Given the description of an element on the screen output the (x, y) to click on. 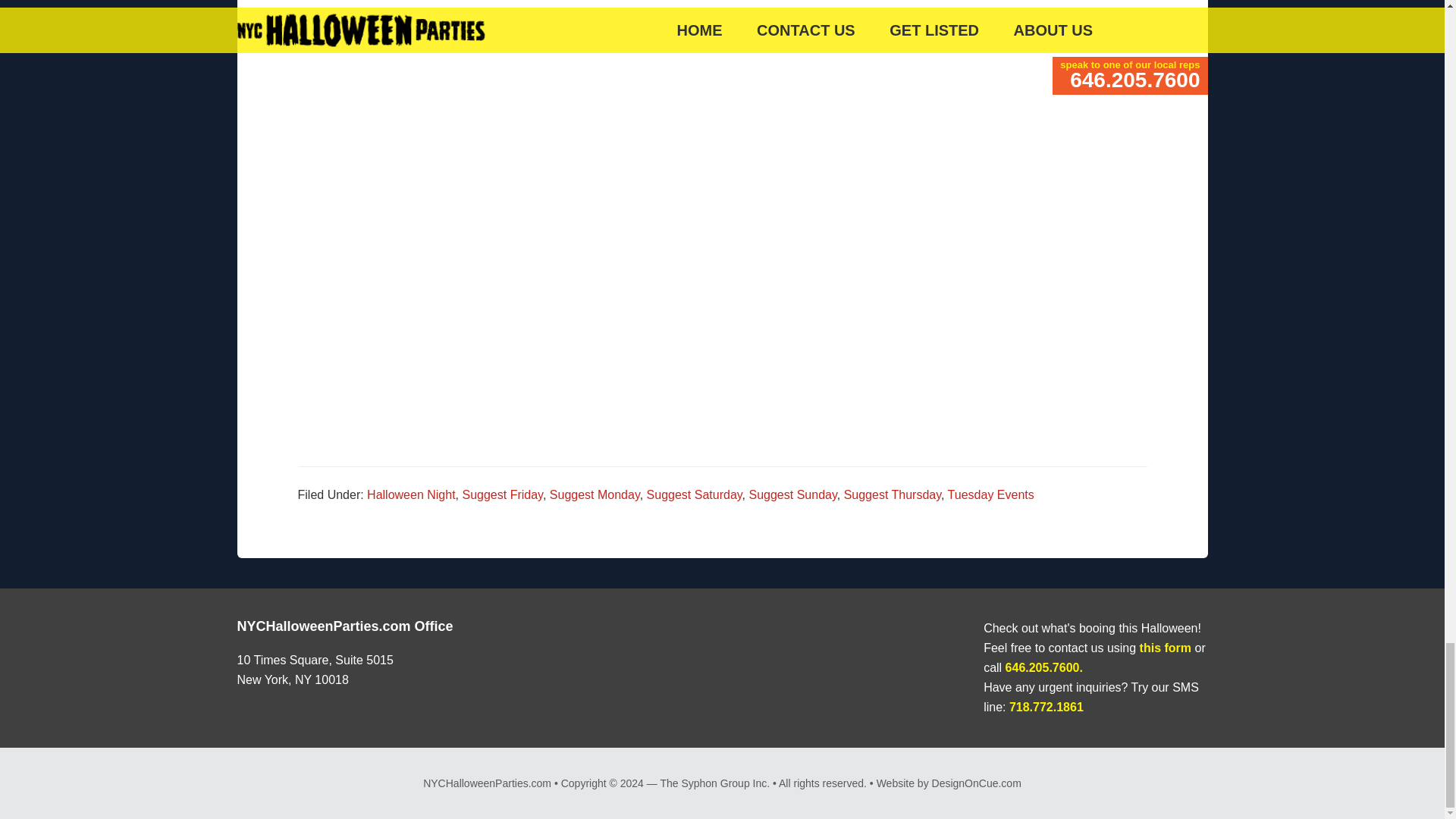
Suggest Friday (503, 494)
bounce-nyc (935, 119)
Halloween Night (410, 494)
646.205.7600. (1044, 667)
718.772.1861 (1046, 707)
bounce-sporting-club (510, 119)
Suggest Sunday (793, 494)
Suggest Thursday (892, 494)
Suggest Saturday (694, 494)
bounce-nyc (935, 66)
this form (1165, 647)
Tuesday Events (990, 494)
